Given the description of an element on the screen output the (x, y) to click on. 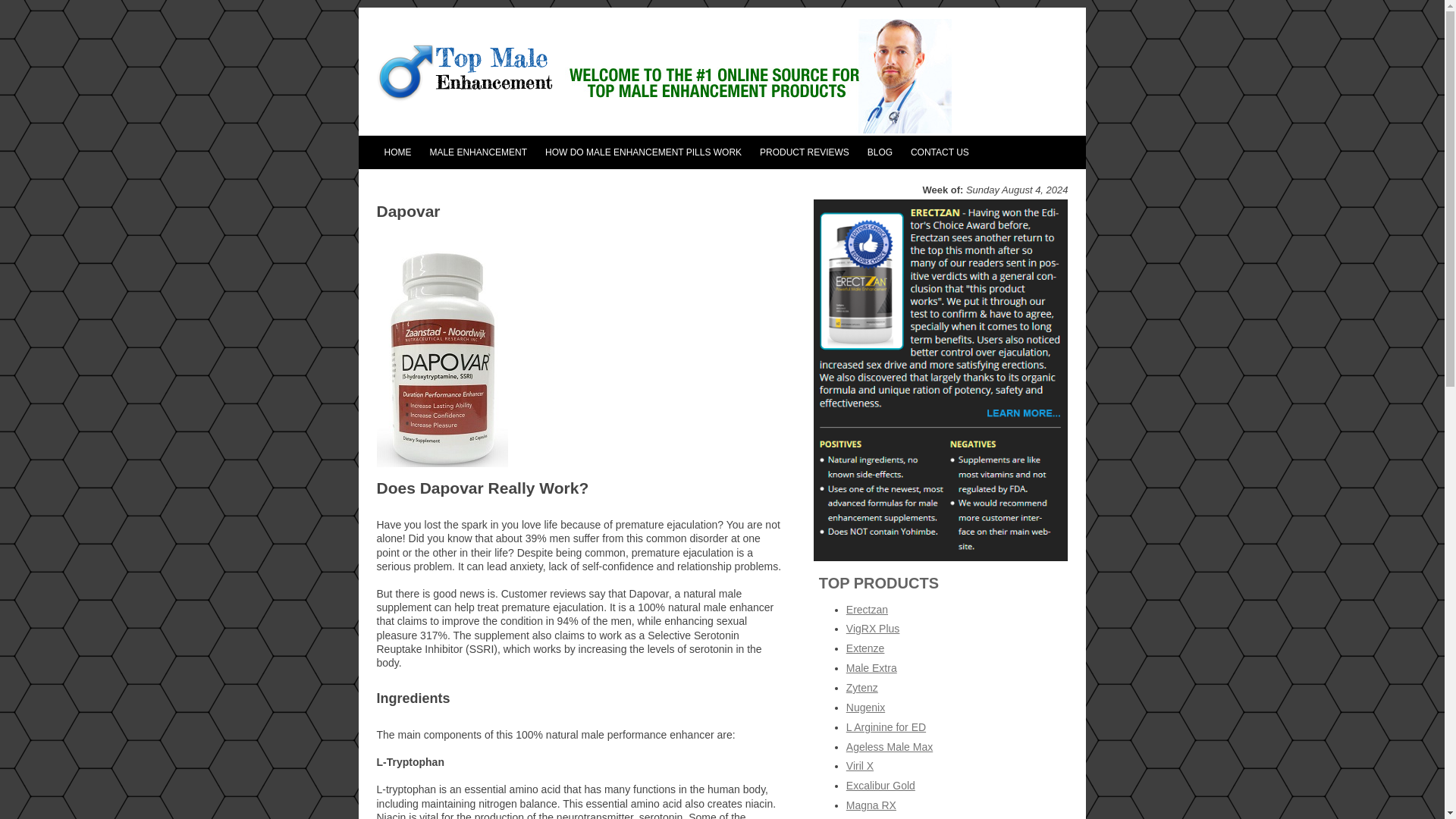
HOME (397, 151)
PRODUCT REVIEWS (804, 151)
CONTACT US (939, 151)
HOW DO MALE ENHANCEMENT PILLS WORK (643, 151)
Erectzan (866, 609)
Extenze (865, 648)
MALE ENHANCEMENT (478, 151)
VigRX Plus (872, 628)
ERECTZAN (835, 183)
BLOG (879, 151)
Top Male Enhancement (464, 80)
